Given the description of an element on the screen output the (x, y) to click on. 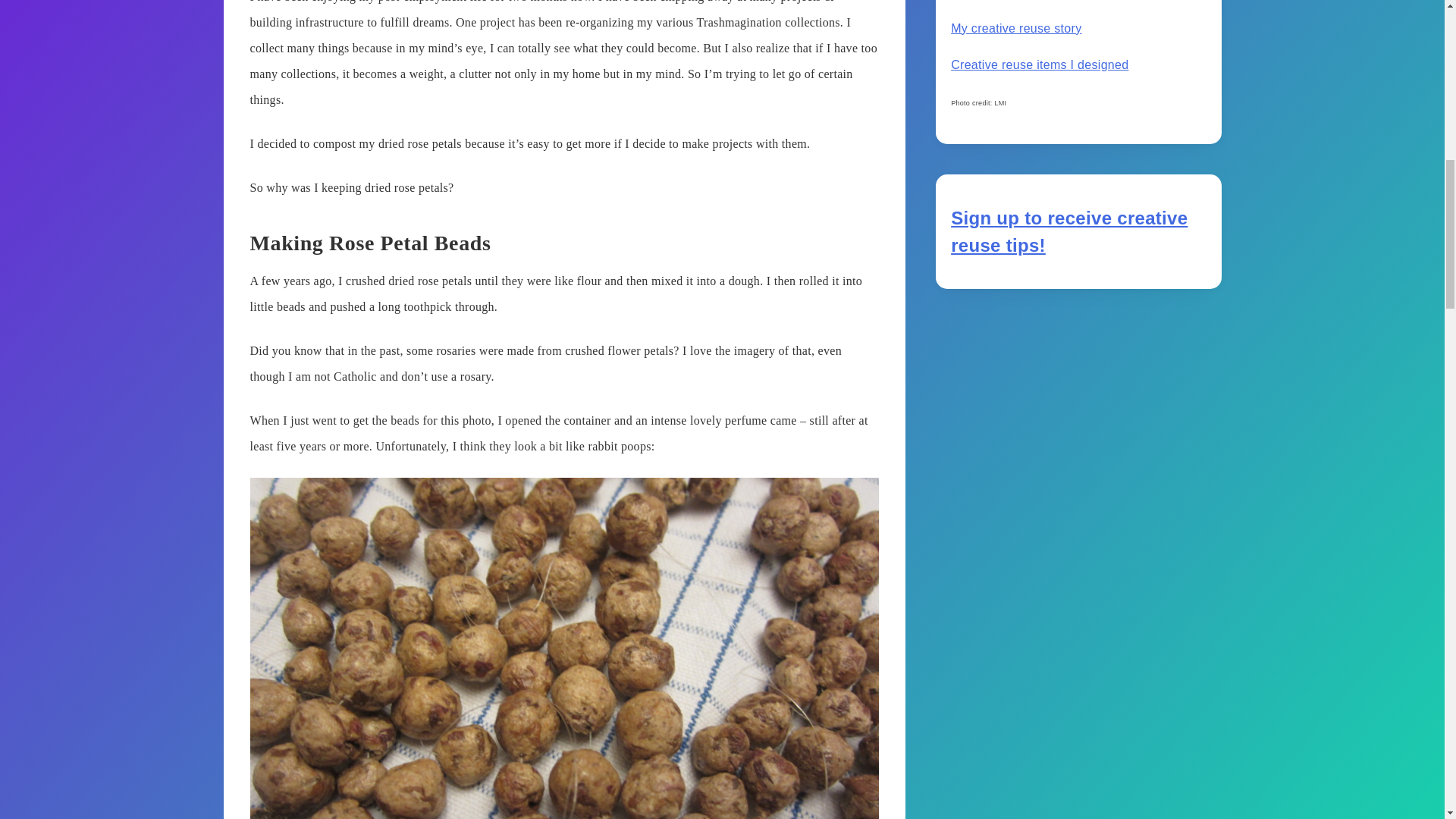
Sign up to receive creative reuse tips! (1069, 231)
Creative reuse items I designed (1039, 64)
My creative reuse story (1015, 28)
